Given the description of an element on the screen output the (x, y) to click on. 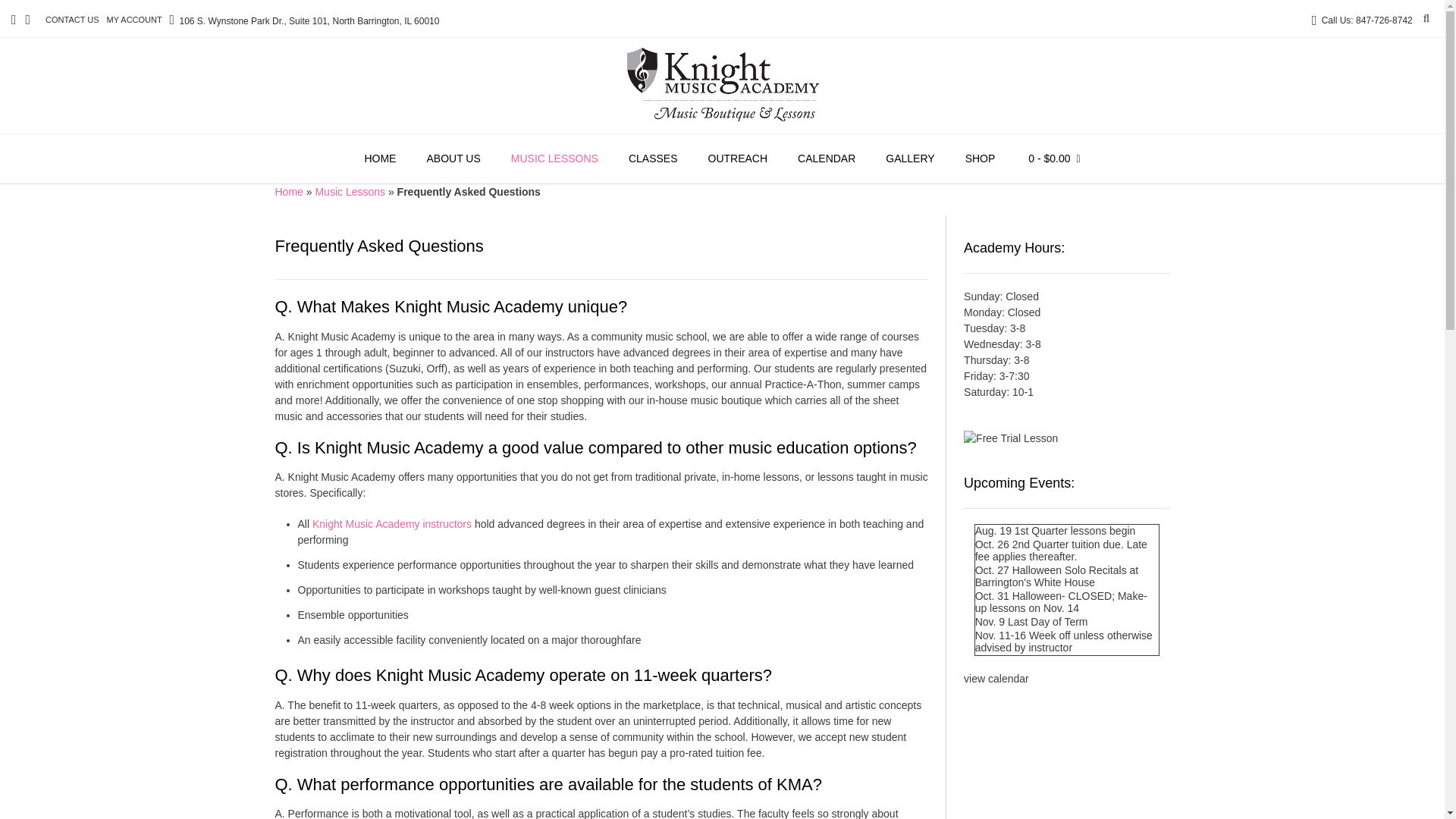
MY ACCOUNT (134, 20)
MUSIC LESSONS (554, 159)
Knight Music Academy (721, 83)
CLASSES (652, 159)
View your shopping cart (1053, 159)
SHOP (980, 159)
Faculty (392, 523)
CALENDAR (826, 159)
HOME (379, 159)
CONTACT US (71, 20)
